Given the description of an element on the screen output the (x, y) to click on. 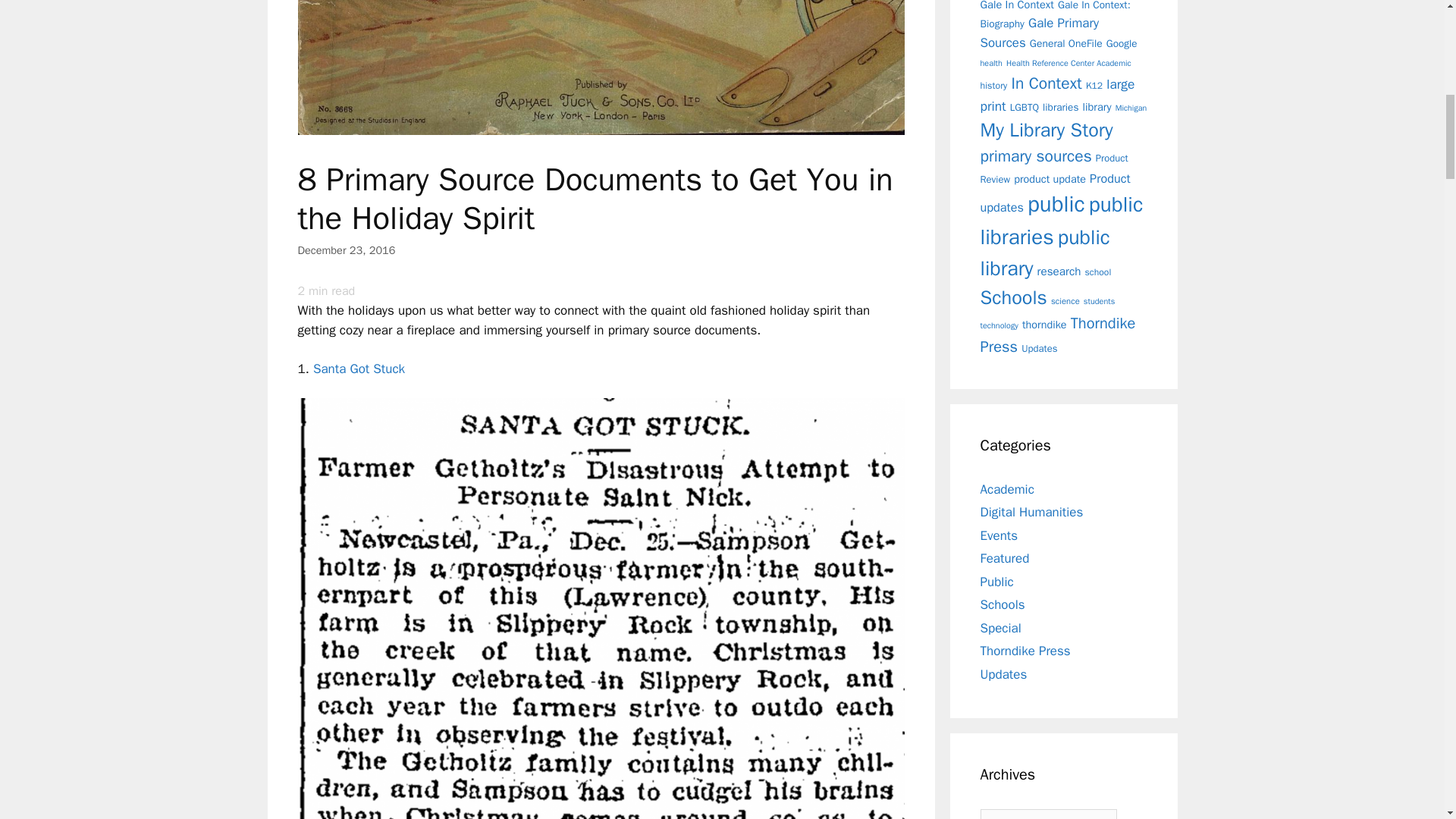
Scroll back to top (1406, 720)
Santa Got Stuck (358, 368)
